Given the description of an element on the screen output the (x, y) to click on. 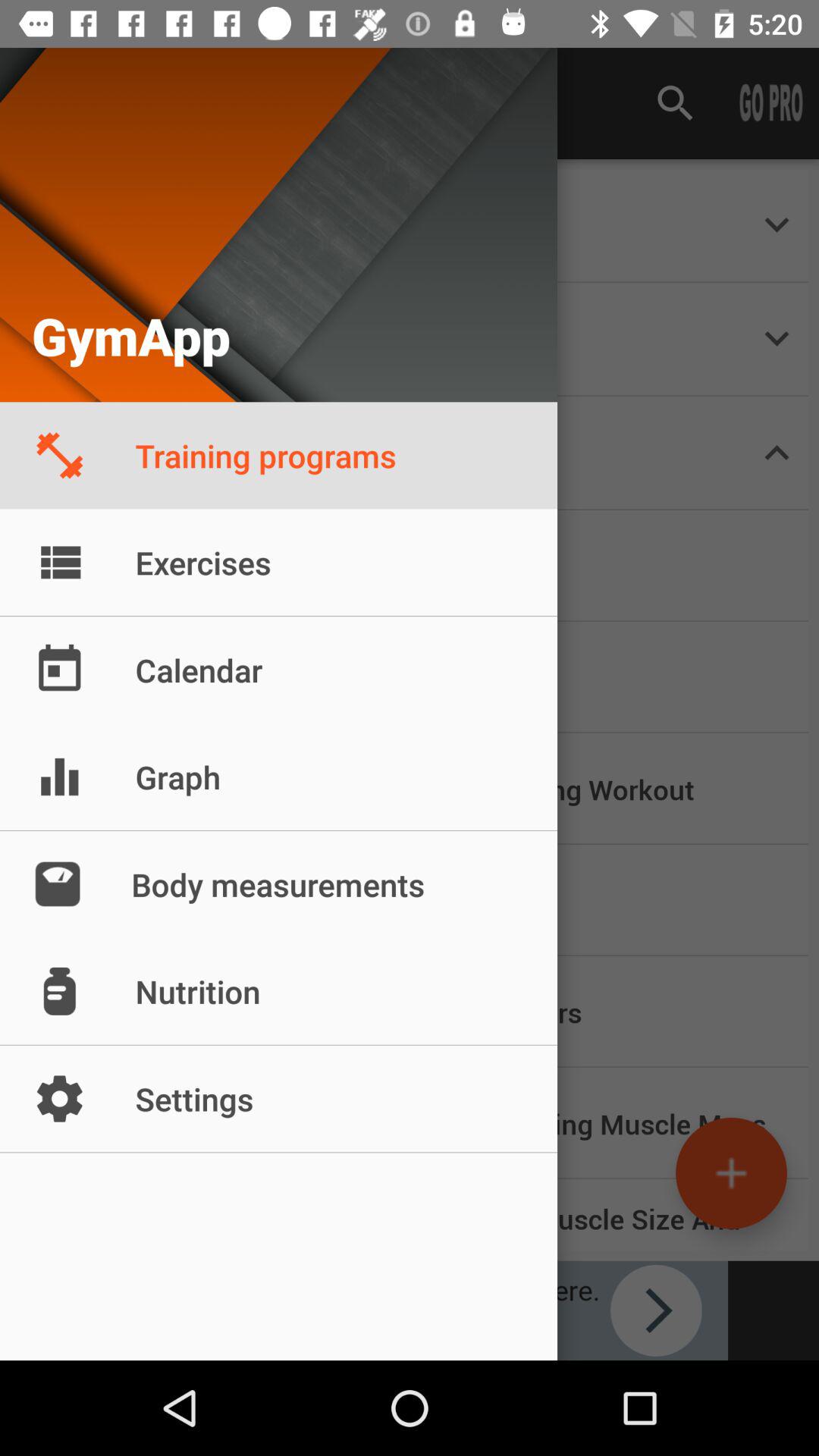
click on training program icon (66, 452)
select search icon which is at the top of the page (675, 103)
select the icon on left side of text graph (59, 777)
